Given the description of an element on the screen output the (x, y) to click on. 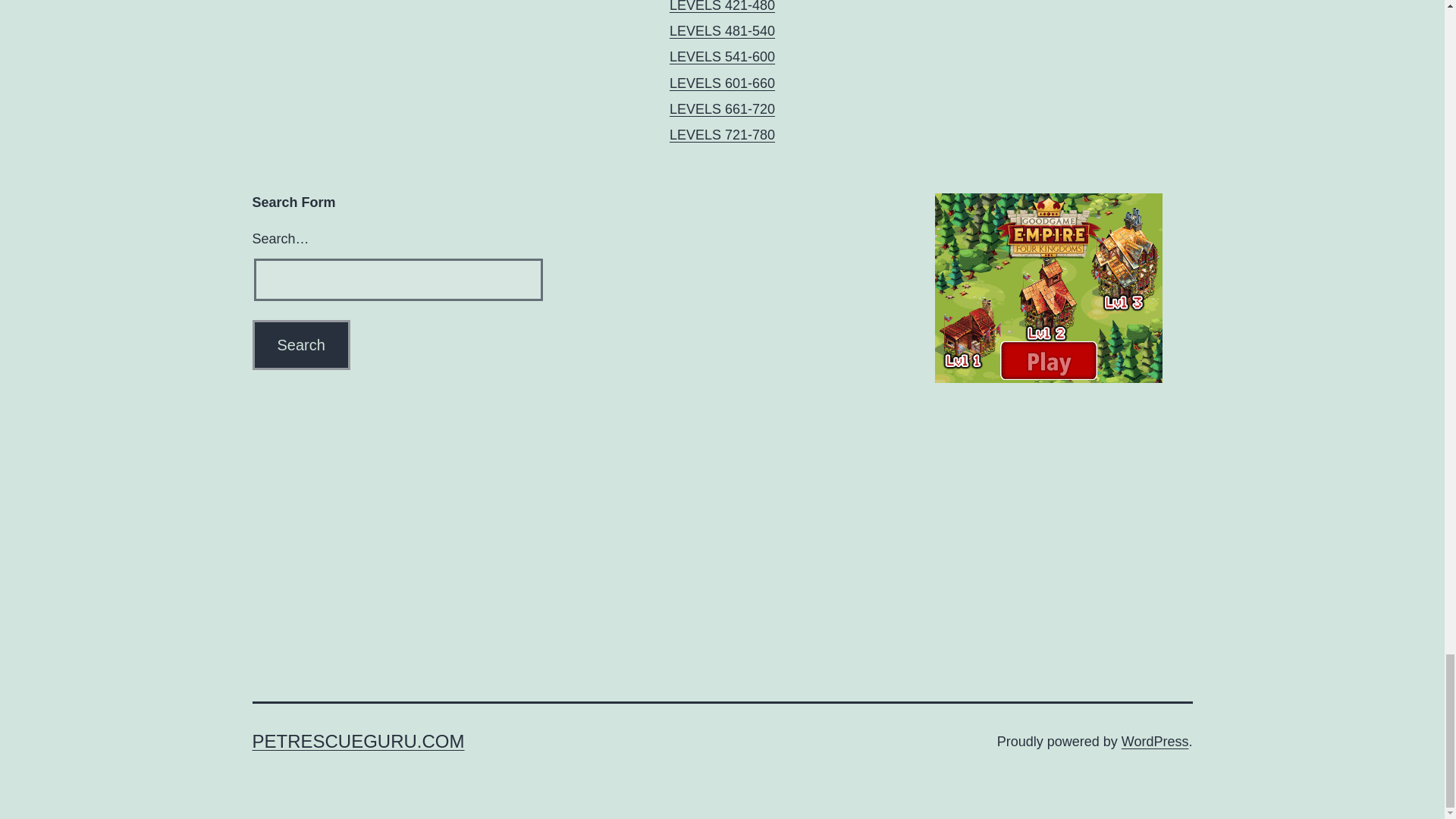
Search (300, 345)
LEVELS 421-480 (721, 6)
Search (300, 345)
LEVELS 481-540 (721, 30)
